Given the description of an element on the screen output the (x, y) to click on. 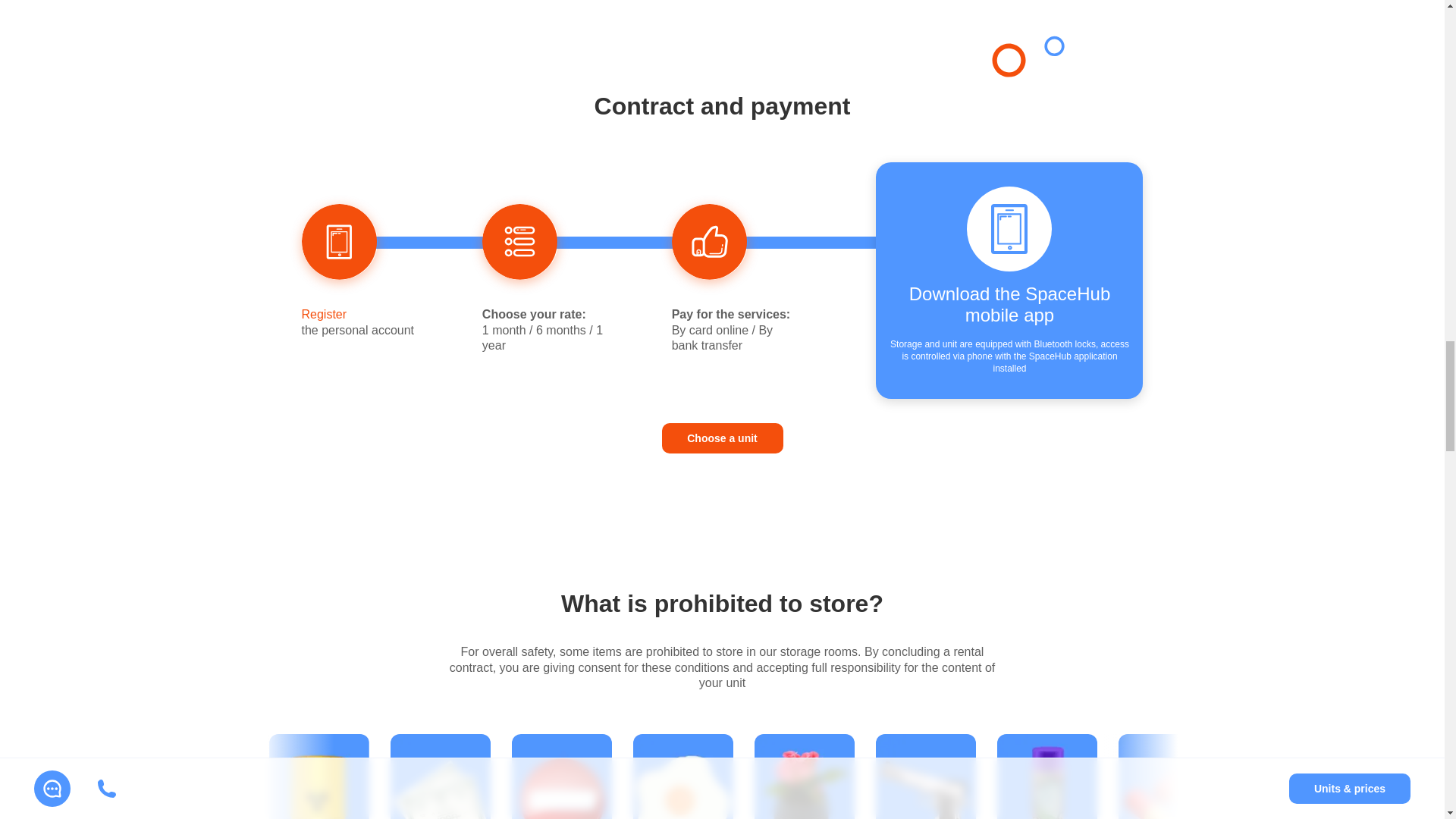
Choose a unit (722, 438)
Register (324, 314)
